Given the description of an element on the screen output the (x, y) to click on. 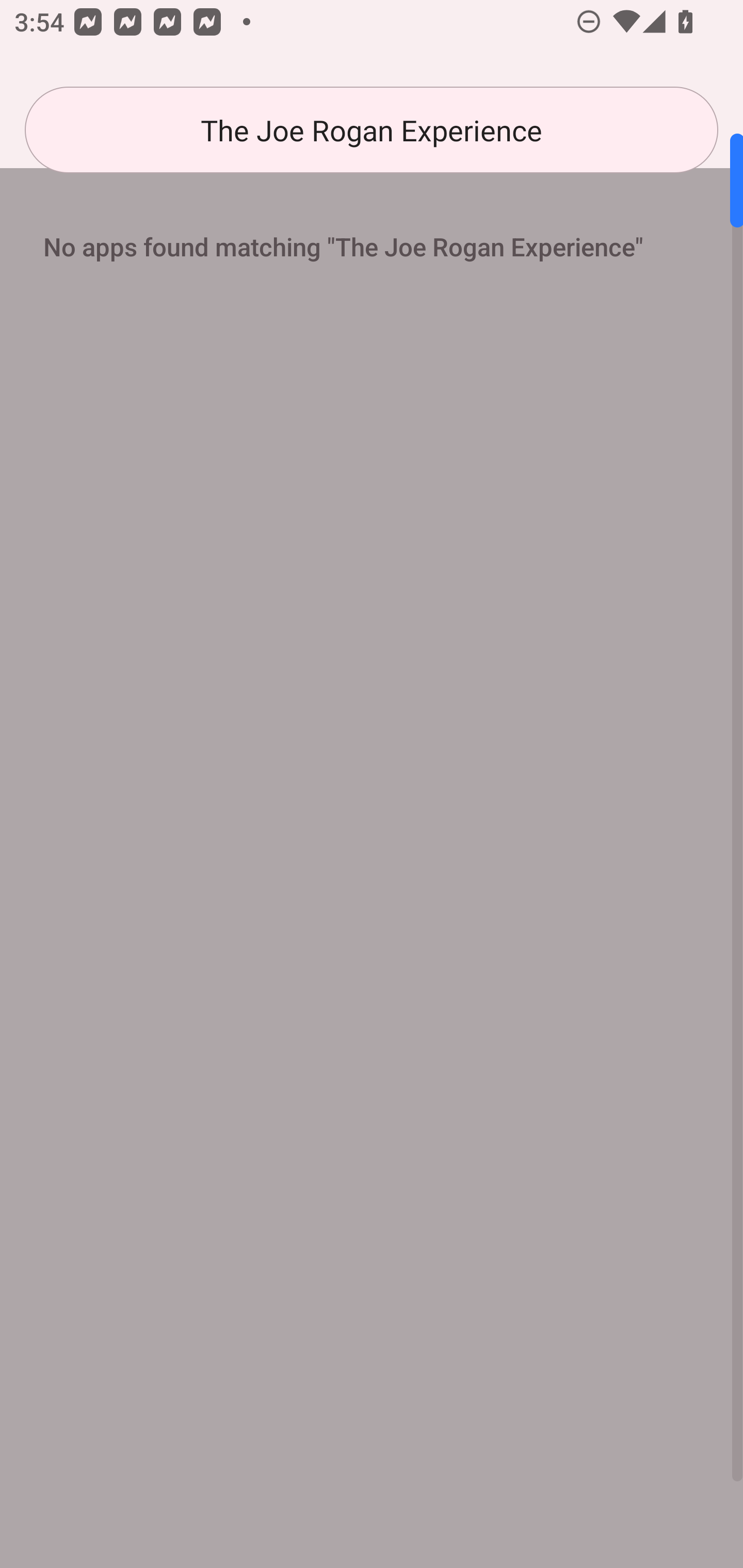
The Joe Rogan Experience (371, 130)
